Given the description of an element on the screen output the (x, y) to click on. 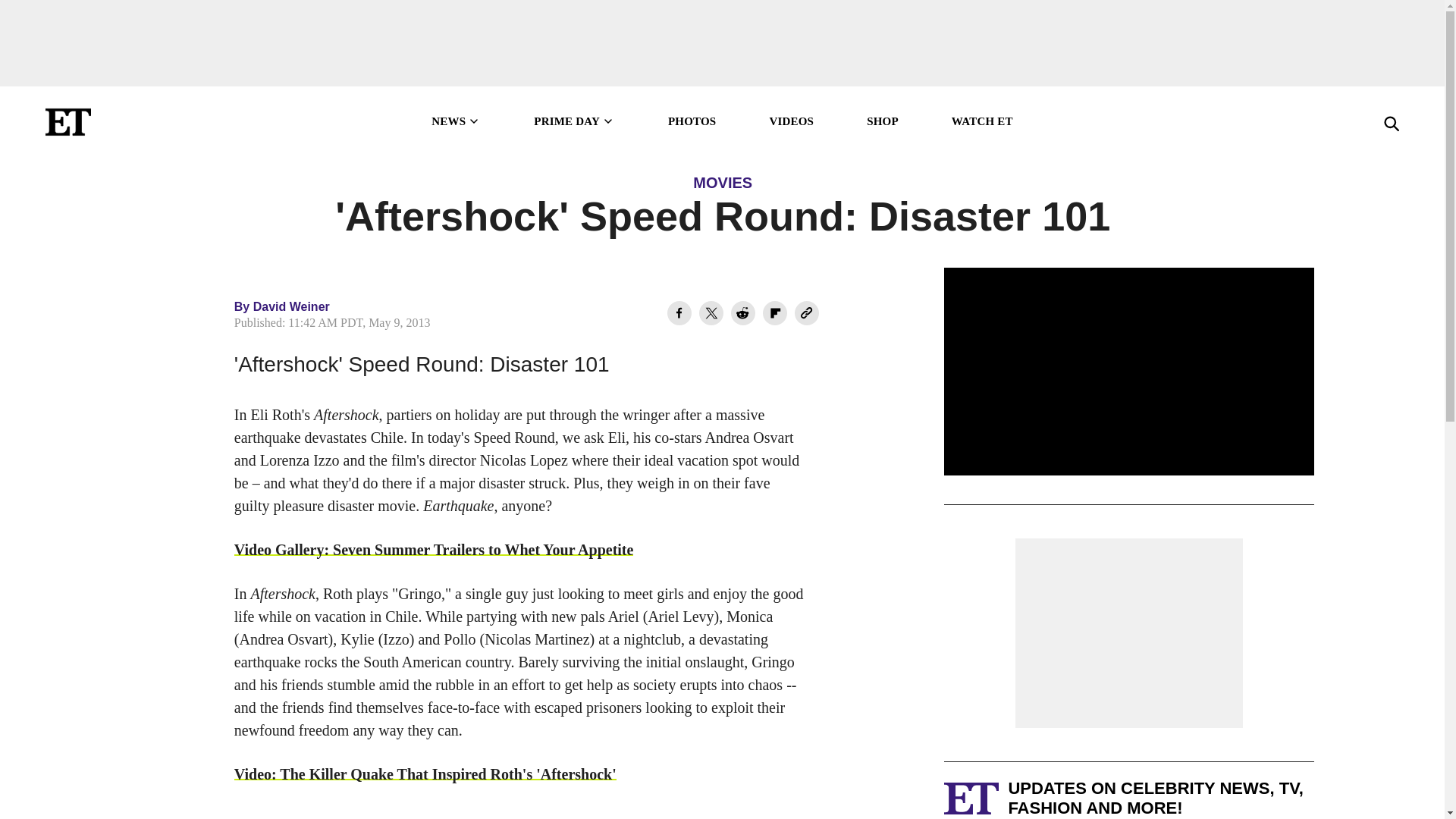
VIDEOS (790, 120)
WATCH ET (982, 120)
NEWS (455, 120)
MOVIES (722, 182)
PHOTOS (692, 120)
PRIME DAY (574, 120)
SHOP (882, 120)
